Given the description of an element on the screen output the (x, y) to click on. 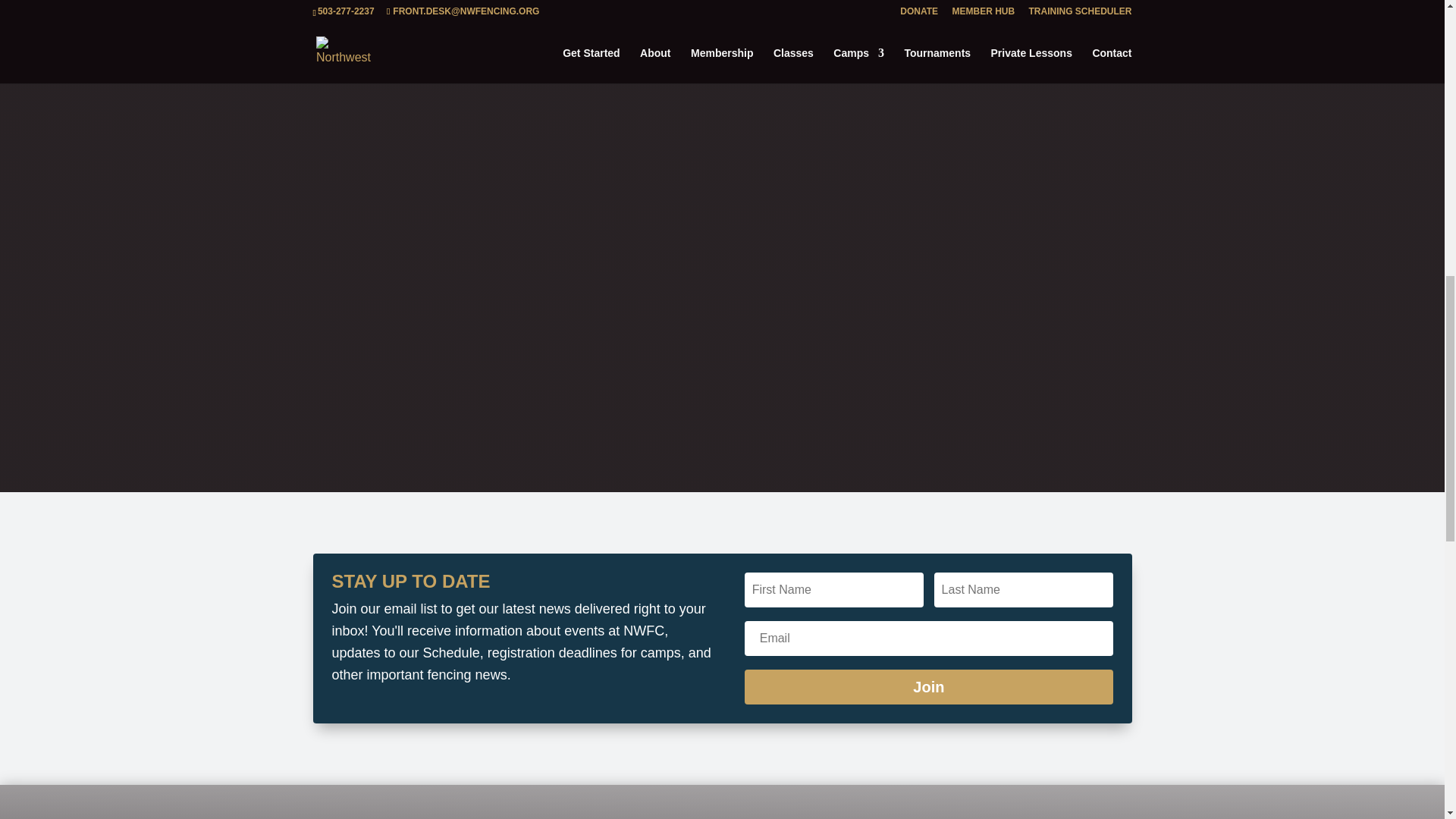
Join (928, 686)
